Given the description of an element on the screen output the (x, y) to click on. 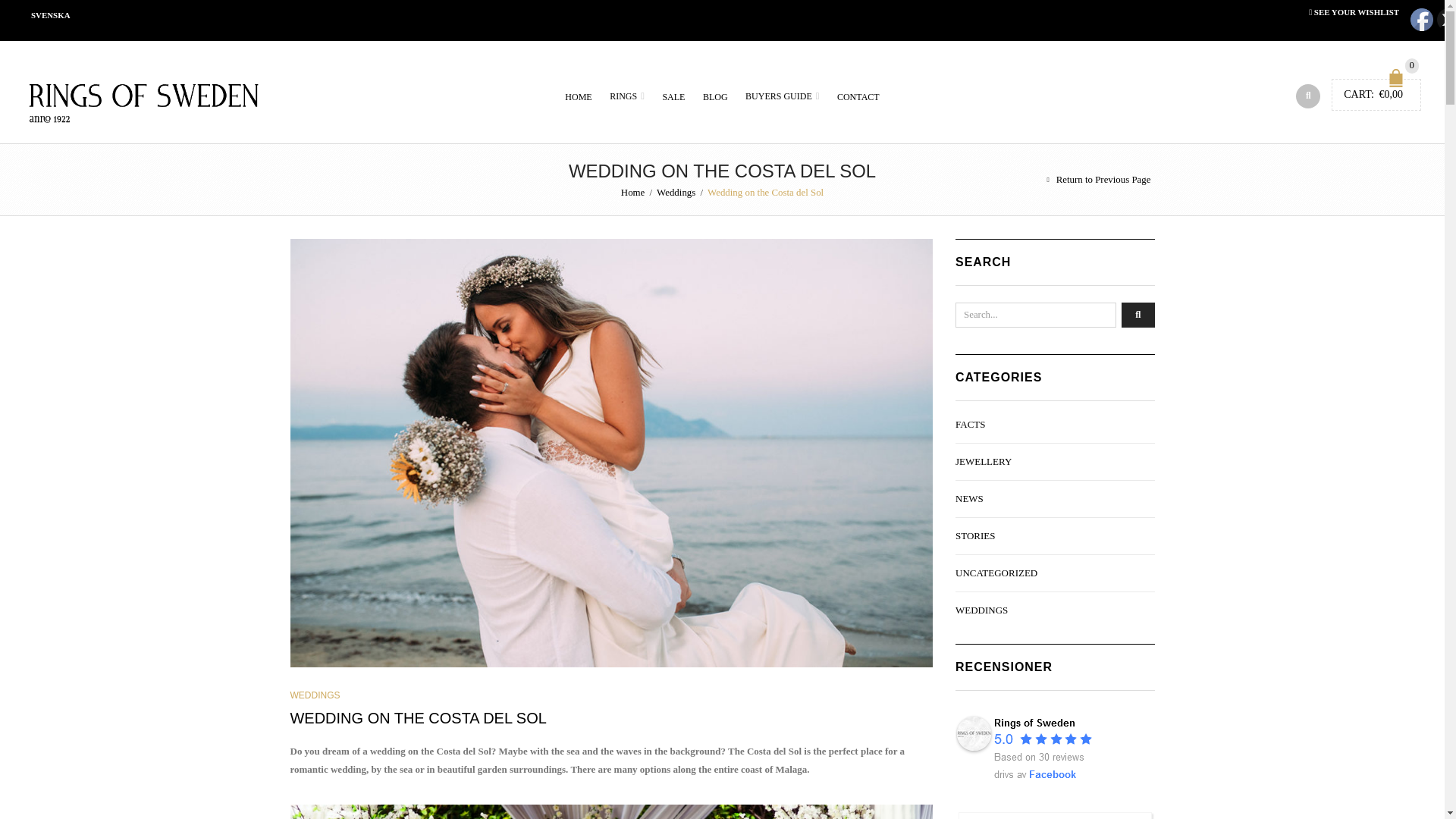
Facebook (1421, 19)
RINGS (627, 96)
HOME (577, 97)
SVENSKA (50, 14)
SEE YOUR WISHLIST (1353, 11)
MR MRS (611, 811)
